Given the description of an element on the screen output the (x, y) to click on. 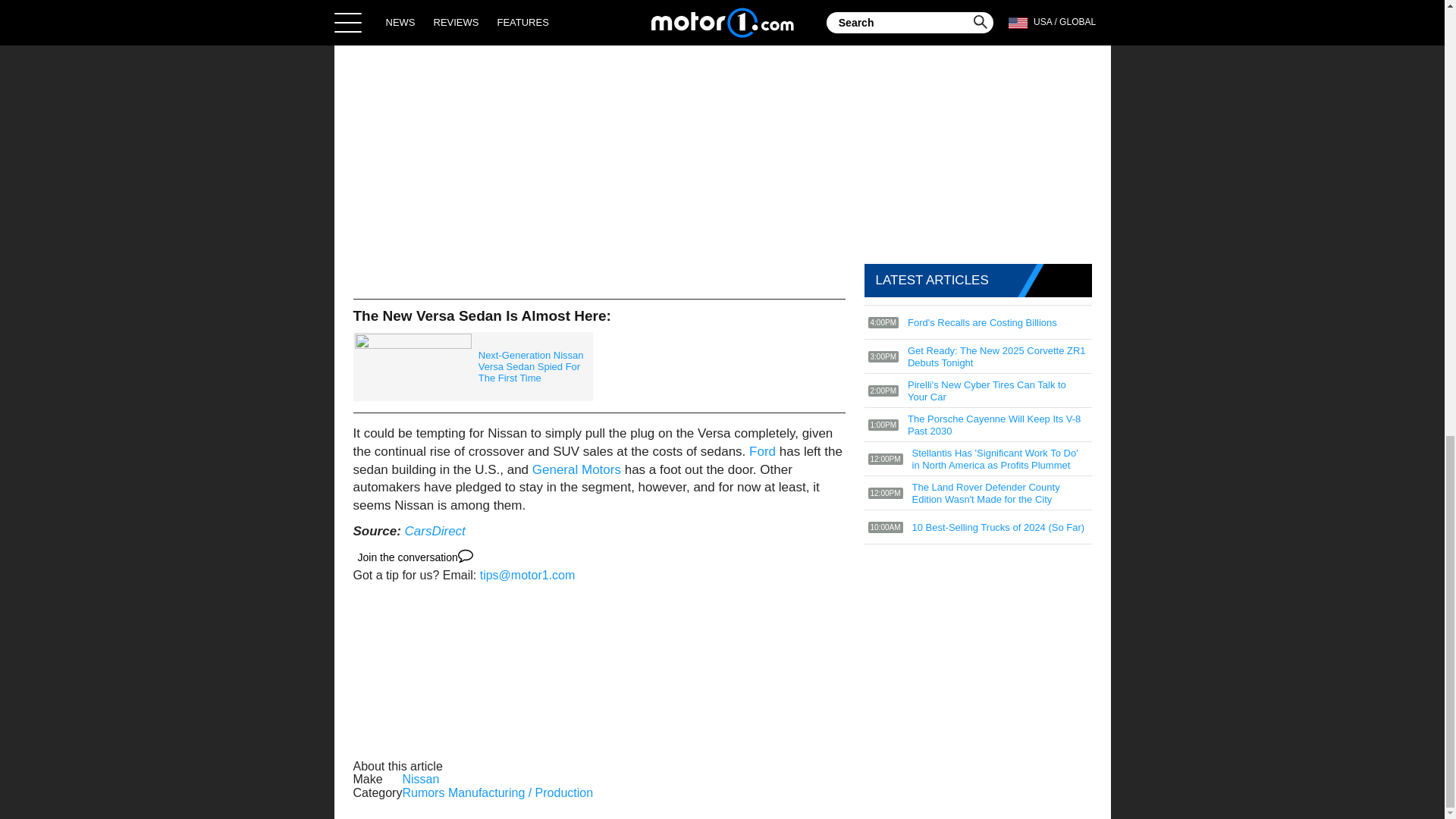
Next-Generation Nissan Versa Sedan Spied For The First Time (473, 366)
Ford (762, 451)
General Motors (576, 469)
CarsDirect (434, 531)
